Given the description of an element on the screen output the (x, y) to click on. 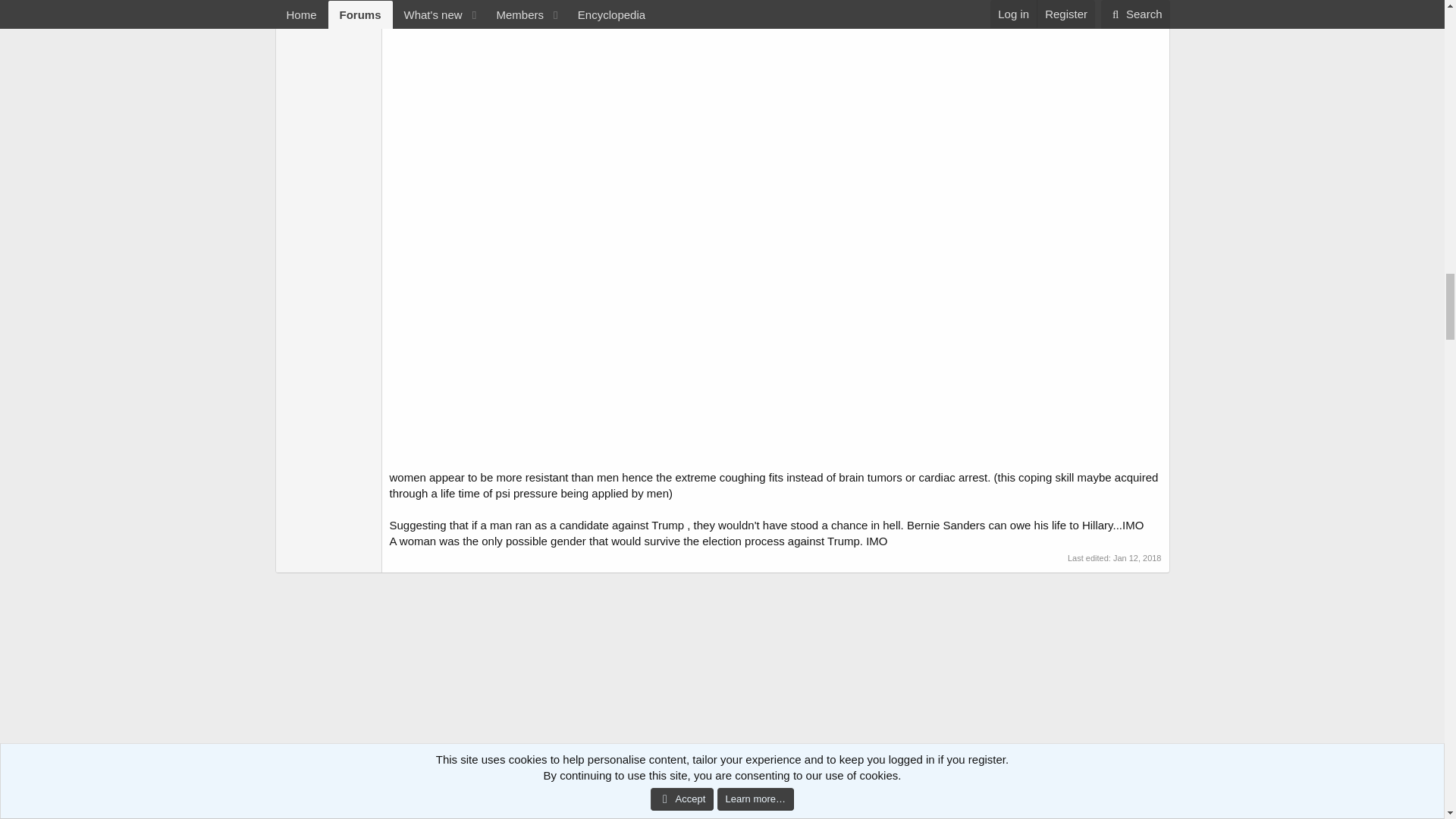
Jan 12, 2018 at 1:01 AM (416, 814)
Jan 12, 2018 at 1:01 AM (1137, 557)
